Given the description of an element on the screen output the (x, y) to click on. 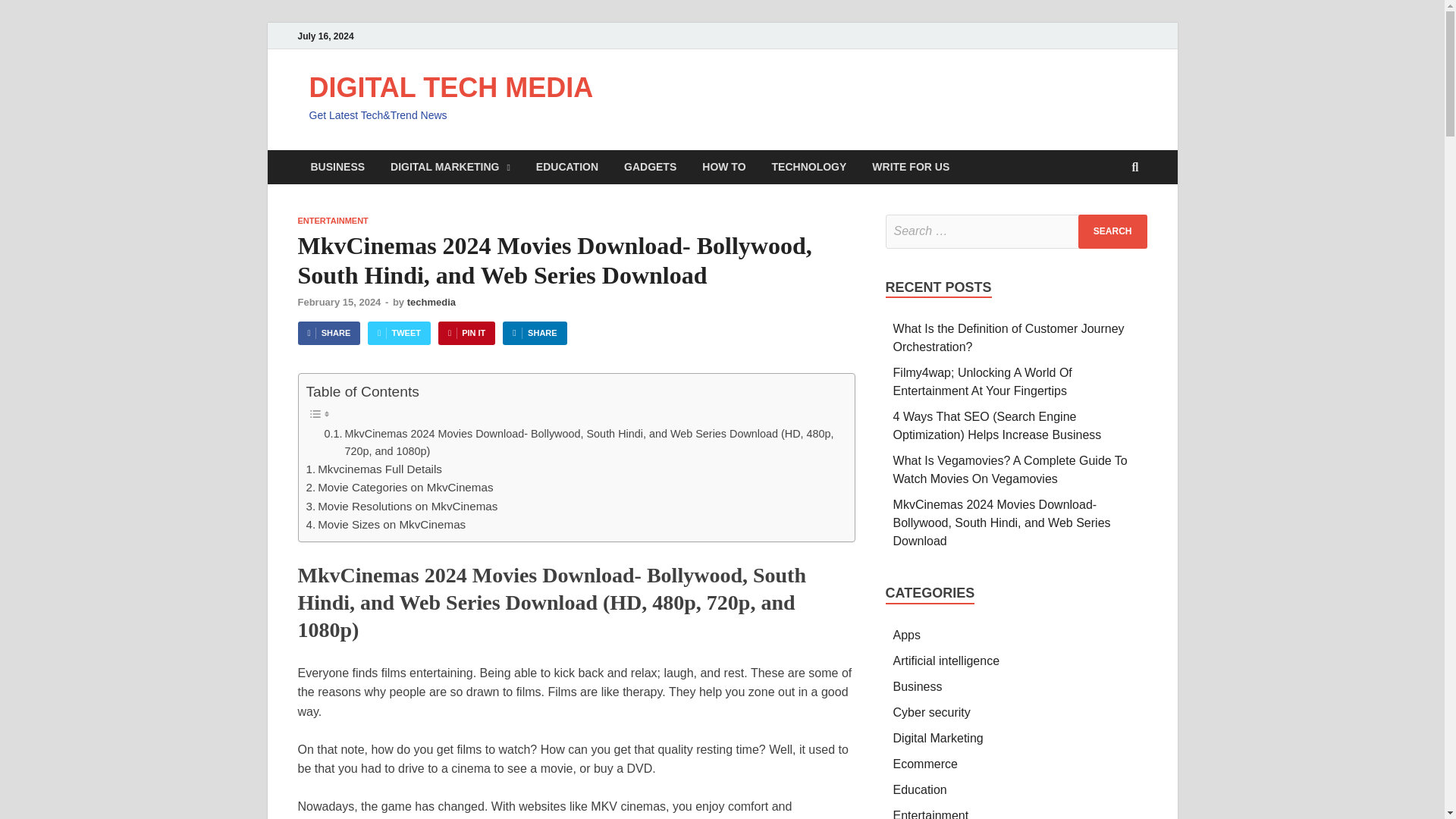
Movie Resolutions on MkvCinemas (401, 506)
HOW TO (723, 166)
WRITE FOR US (910, 166)
TWEET (399, 332)
TECHNOLOGY (809, 166)
EDUCATION (566, 166)
Movie Resolutions on MkvCinemas (401, 506)
Mkvcinemas Full Details (373, 469)
PIN IT (466, 332)
Movie Sizes on MkvCinemas (385, 524)
Movie Categories on MkvCinemas (399, 487)
GADGETS (649, 166)
SHARE (328, 332)
Mkvcinemas Full Details (373, 469)
Movie Sizes on MkvCinemas (385, 524)
